Given the description of an element on the screen output the (x, y) to click on. 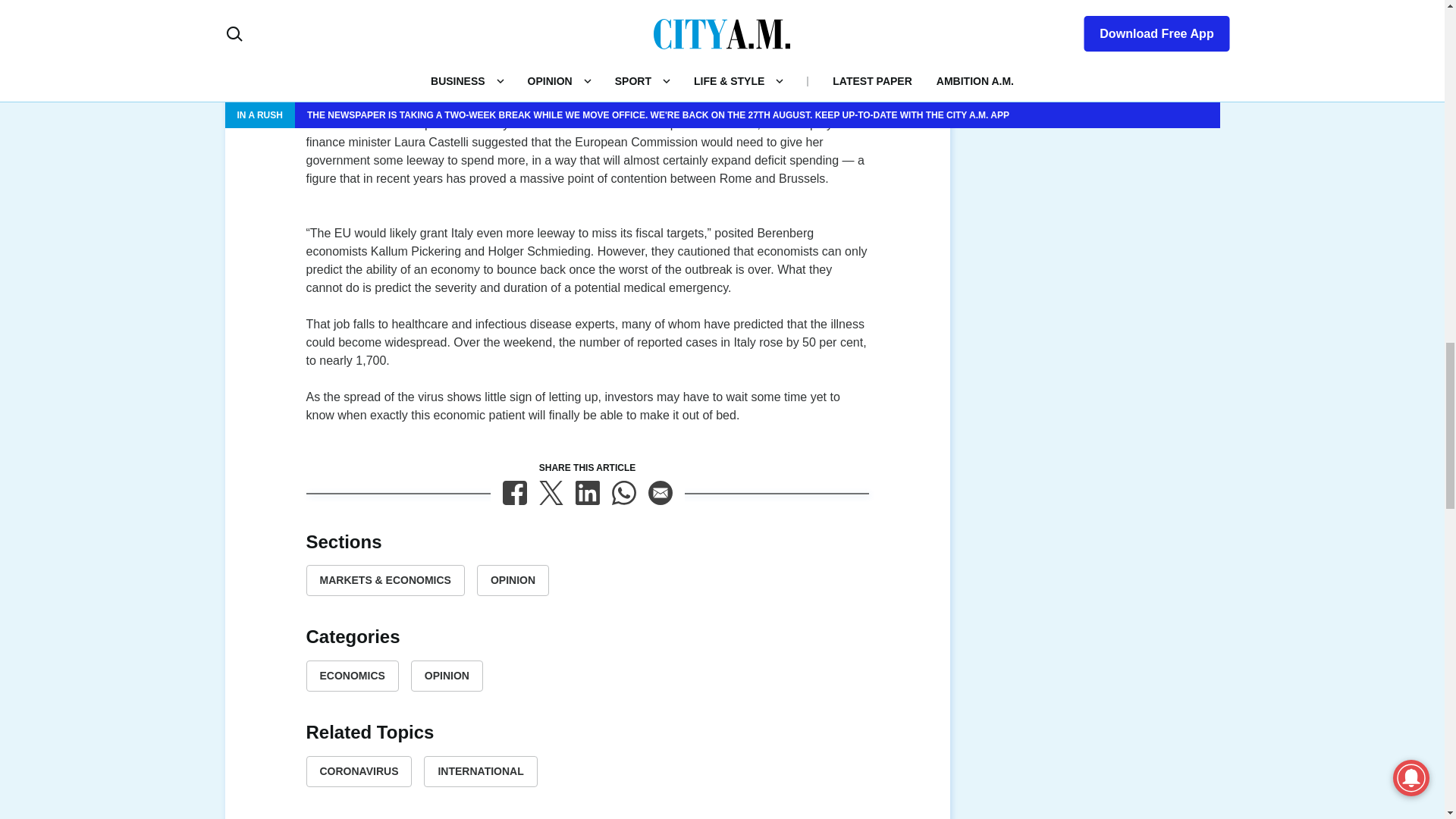
Facebook (513, 492)
Email (659, 492)
WhatsApp (622, 492)
X (550, 492)
LinkedIn (586, 492)
